Given the description of an element on the screen output the (x, y) to click on. 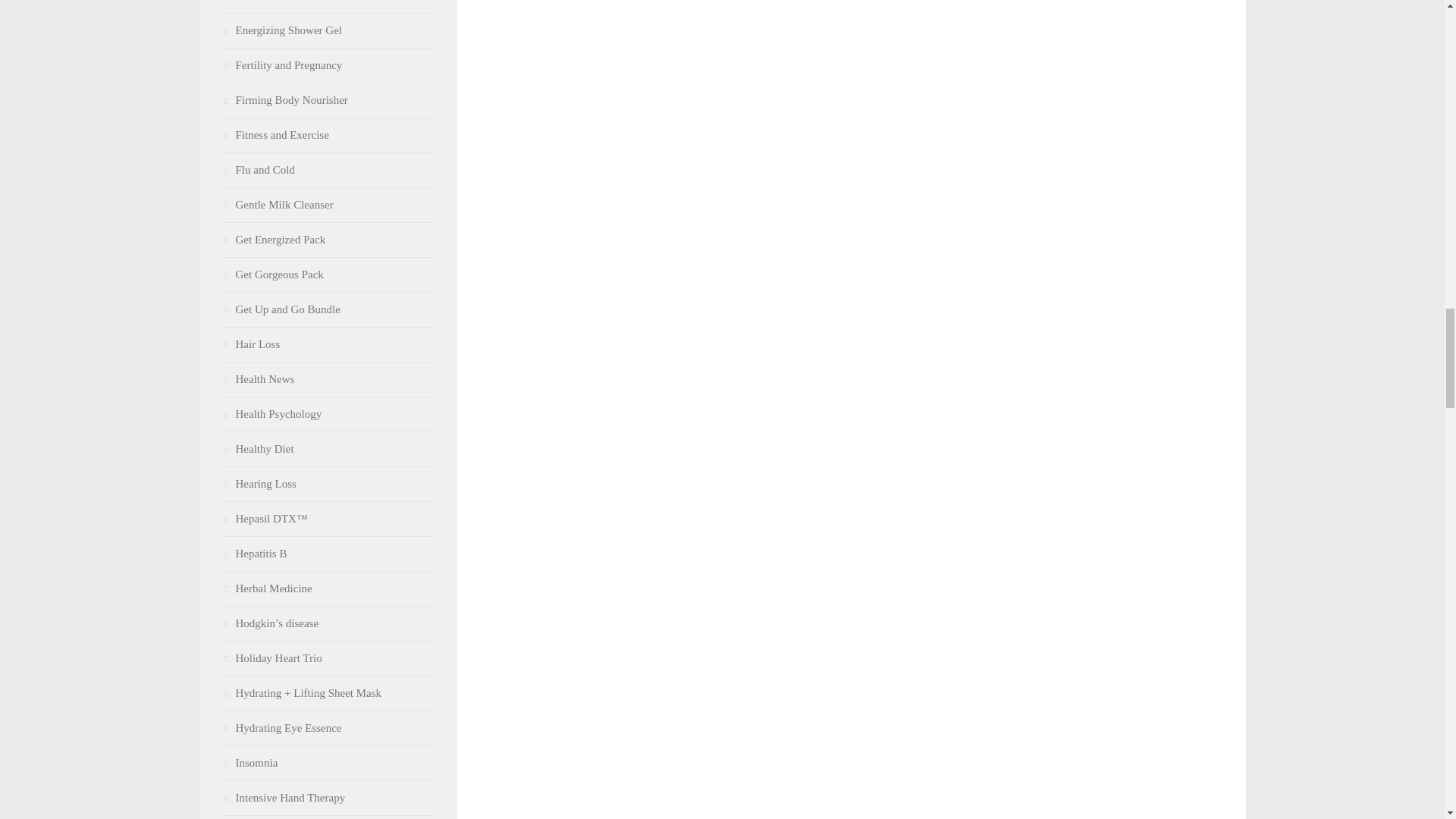
Insomnia (249, 762)
